Given the description of an element on the screen output the (x, y) to click on. 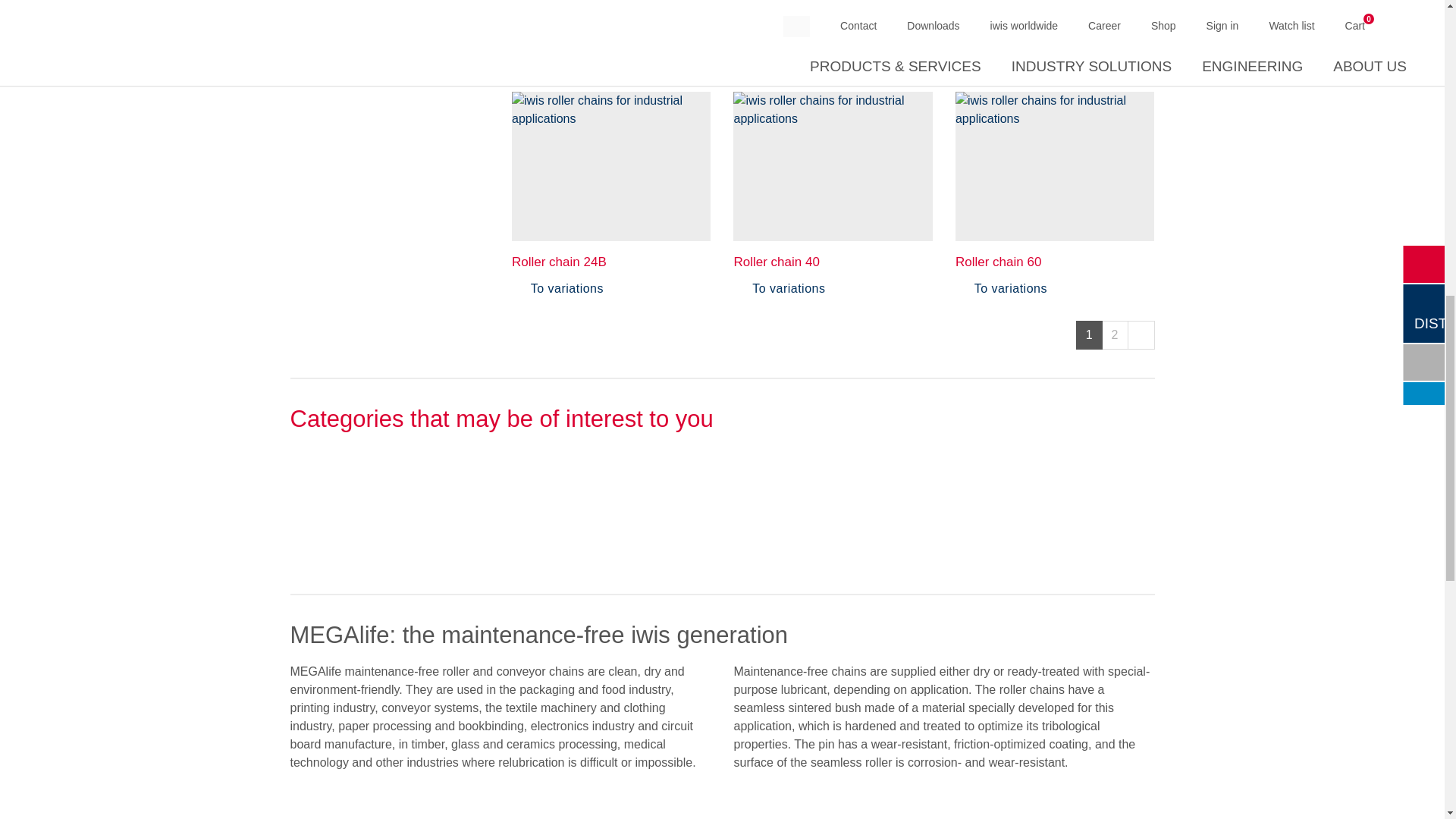
iwis roller chains for industrial applications (1054, 5)
iwis roller chains for industrial applications (832, 5)
iwis roller chains for industrial applications (611, 5)
